Given the description of an element on the screen output the (x, y) to click on. 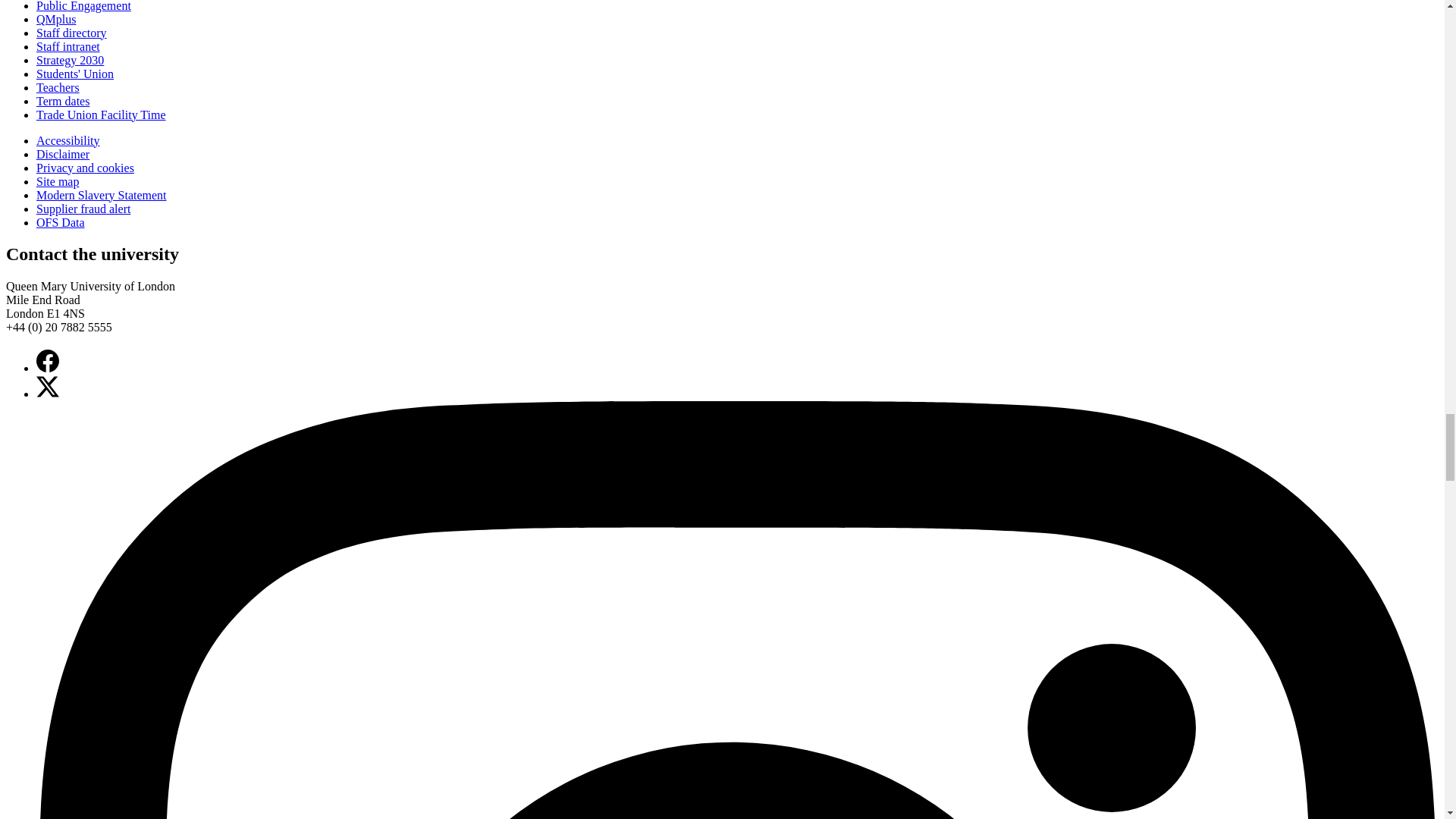
Facebook (47, 360)
Twitter X (47, 386)
